Given the description of an element on the screen output the (x, y) to click on. 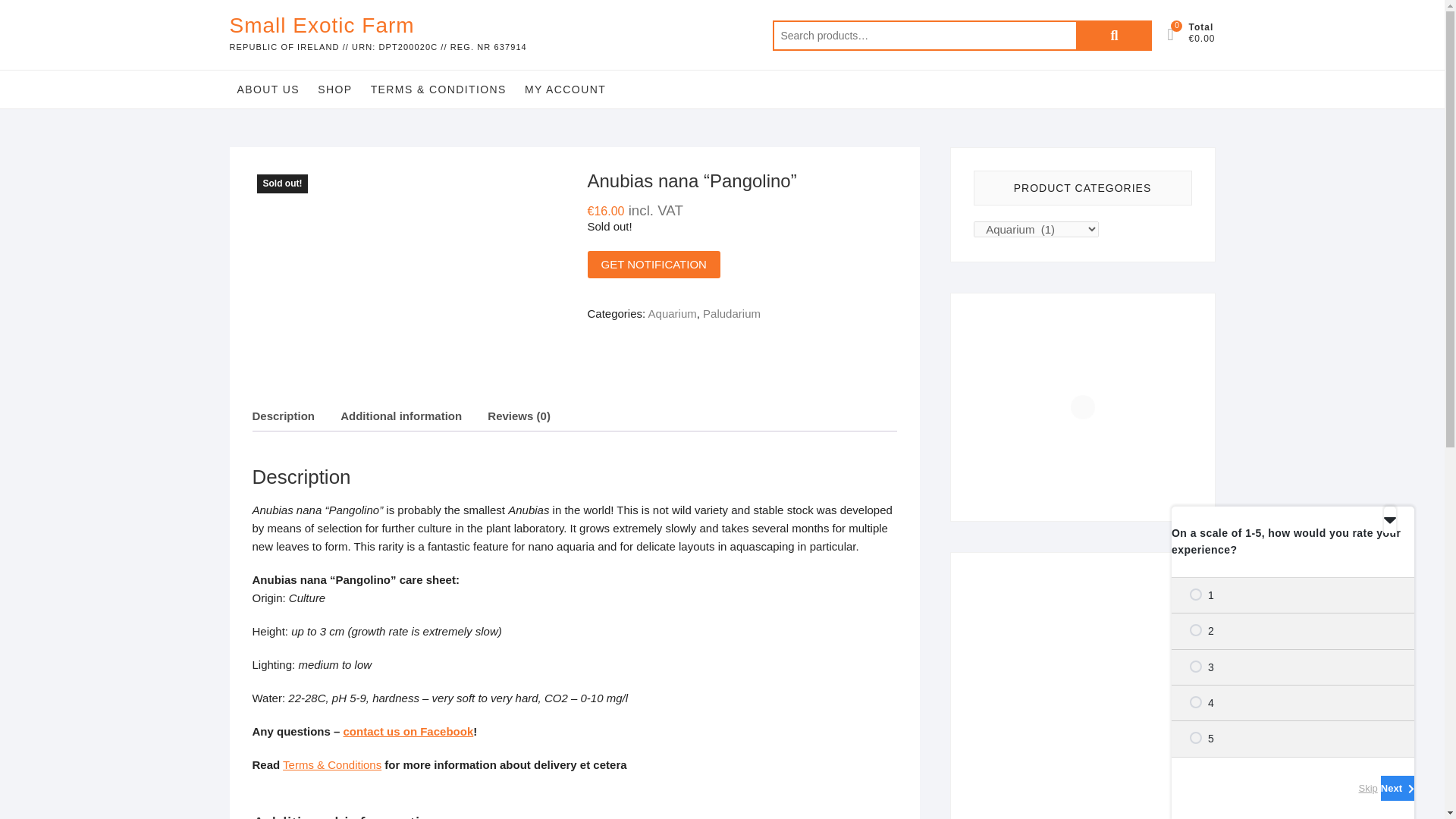
Get notification (652, 264)
contact us on Facebook (408, 730)
Aquarium (672, 313)
Paludarium (731, 313)
SHOP (334, 89)
Search (1113, 35)
Description (282, 416)
Additional information (400, 416)
ABOUT US (267, 89)
Small Exotic Farm (376, 25)
